Given the description of an element on the screen output the (x, y) to click on. 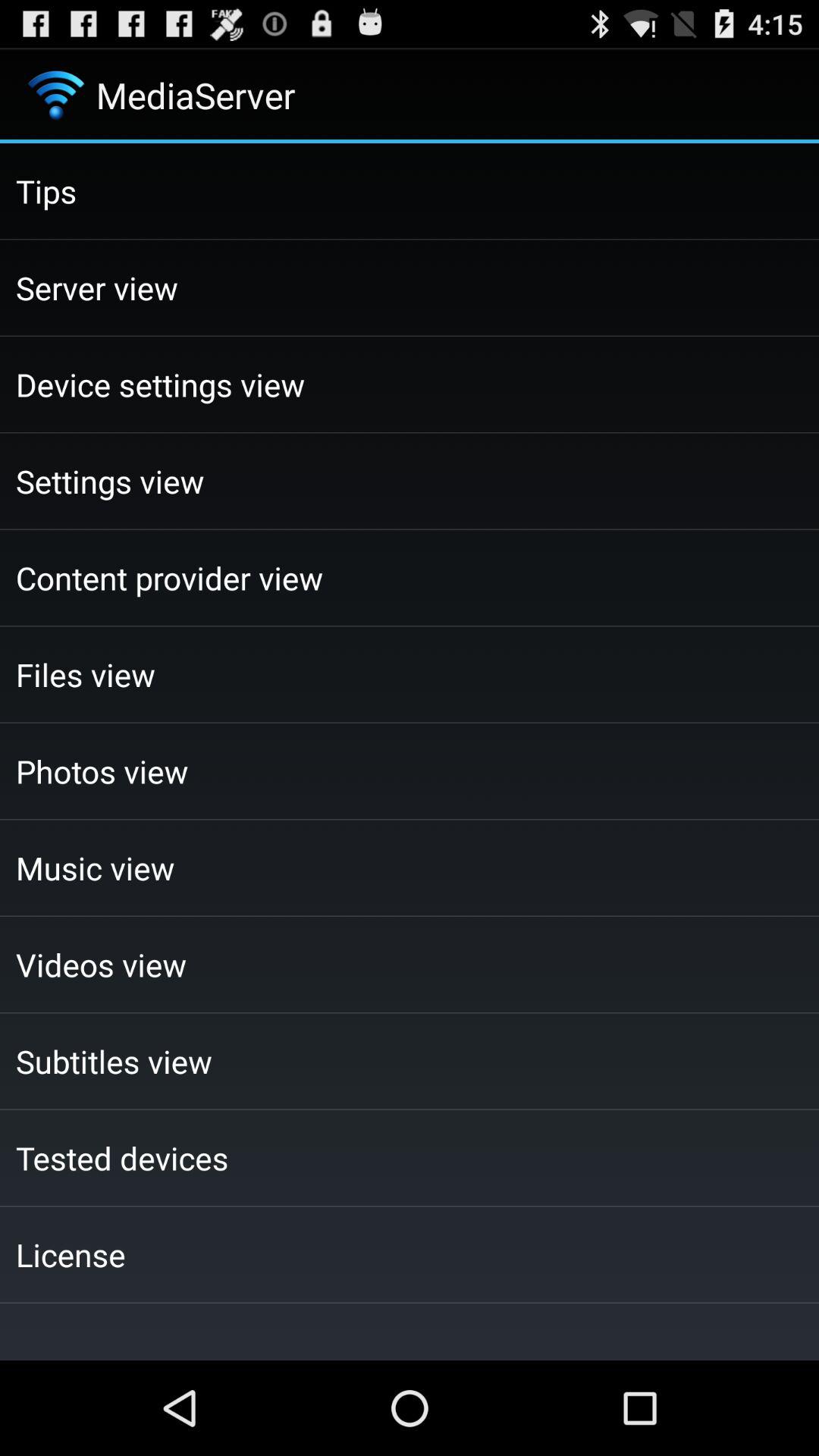
jump to the content provider view (409, 577)
